Given the description of an element on the screen output the (x, y) to click on. 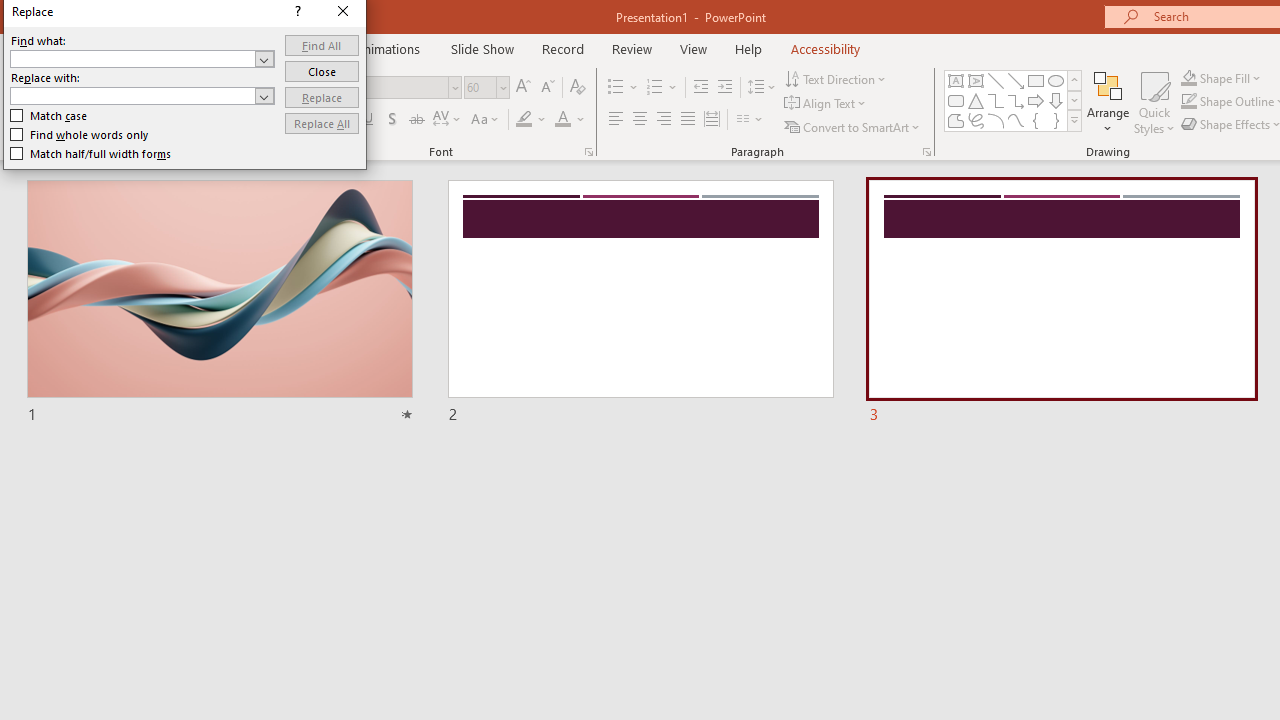
Replace with (132, 95)
Find All (321, 44)
